Given the description of an element on the screen output the (x, y) to click on. 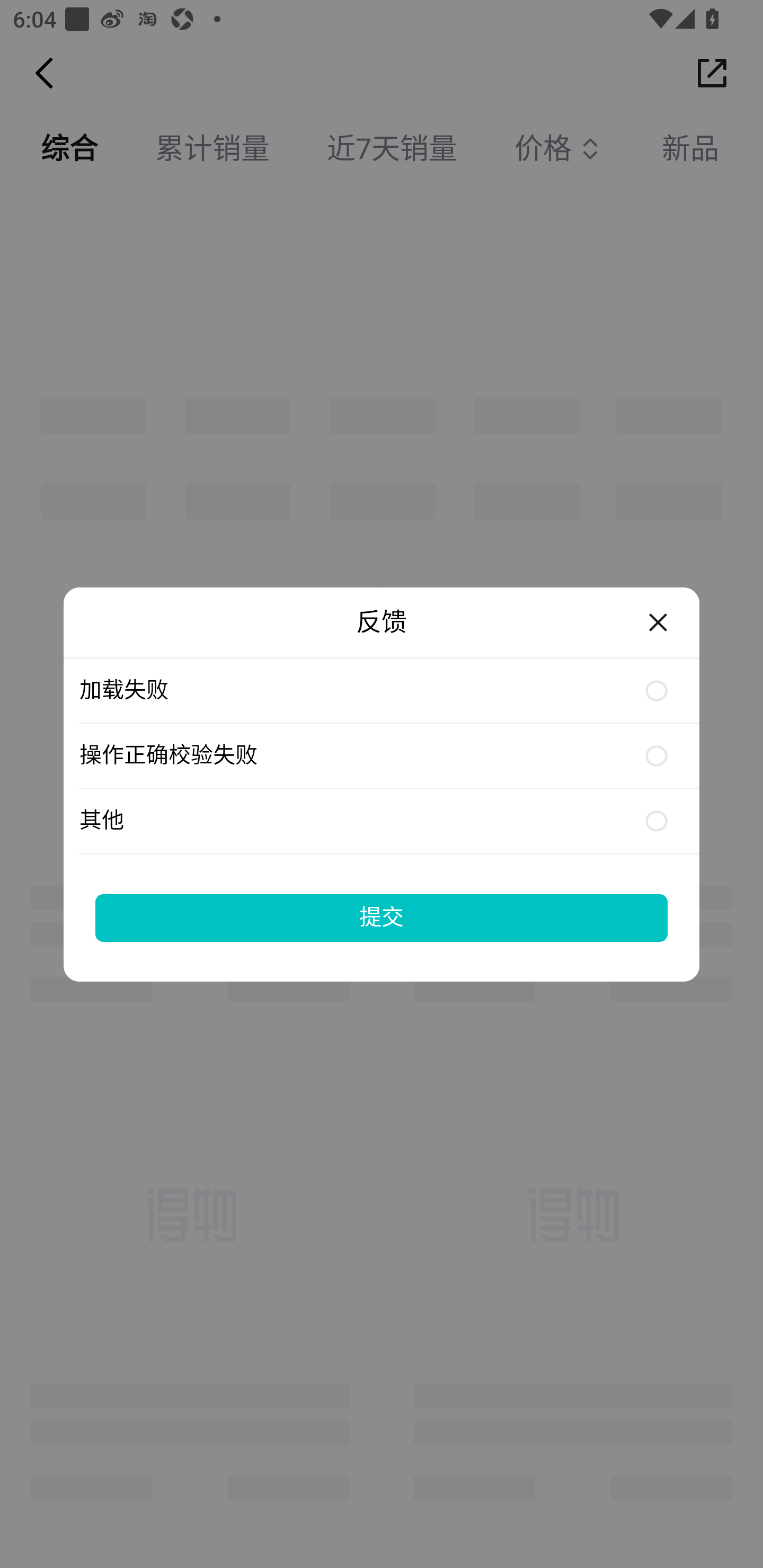
提交 (381, 917)
